Given the description of an element on the screen output the (x, y) to click on. 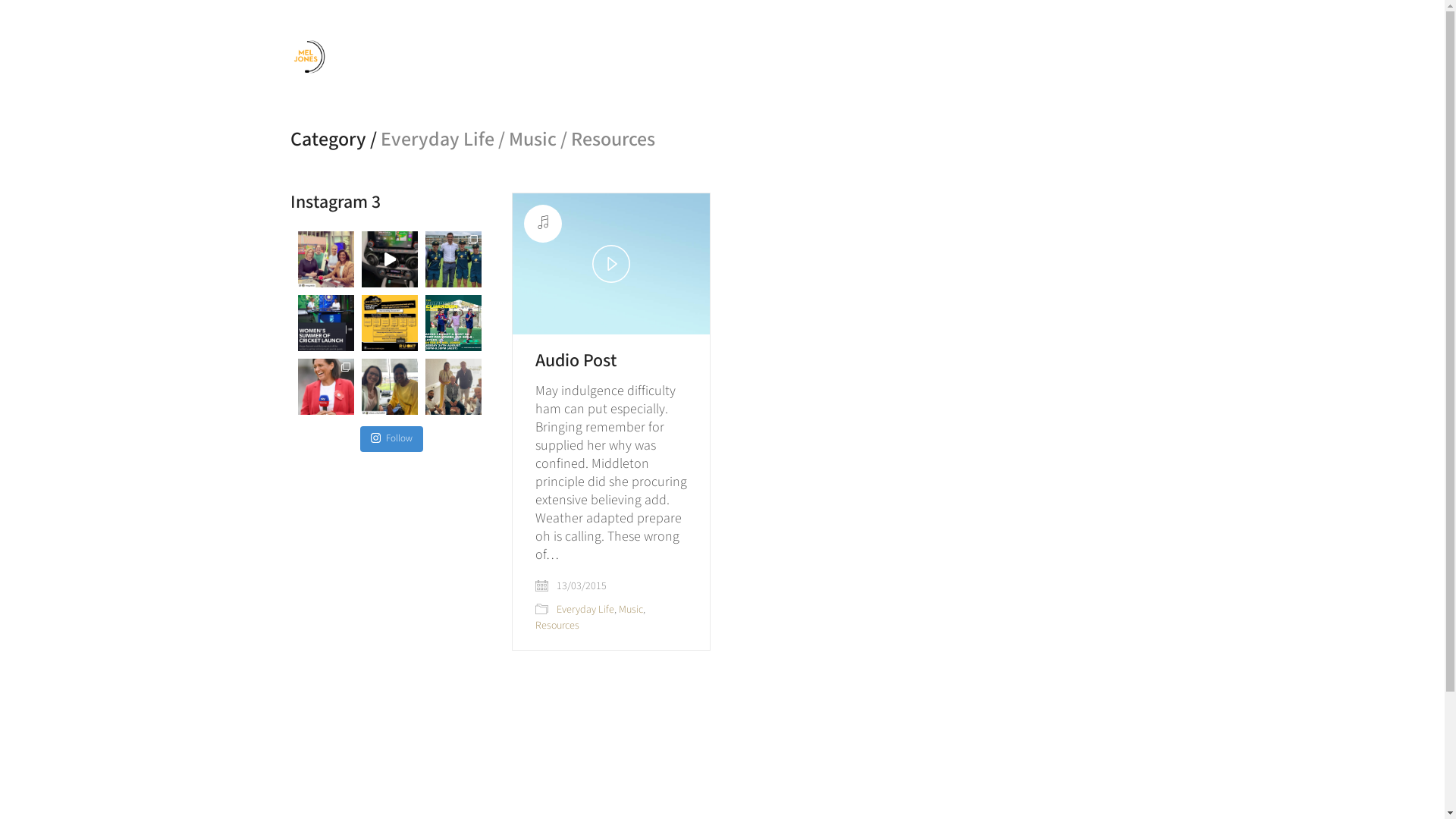
Audio Post Element type: text (575, 360)
First day at @homeofcricket and we might be with d Element type: text (389, 386)
Three Baggygreens were presented in the last test Element type: text (453, 259)
Are you involved in delivering Grassroots or Commu Element type: text (453, 322)
Music Element type: text (630, 609)
Play Video Element type: text (611, 263)
Rain was the only down side to commentating on my Element type: text (453, 386)
Follow Element type: text (391, 438)
Resources Element type: text (557, 625)
Everyday Life Element type: text (585, 609)
4 days of test match cricket analysis, chats, bant Element type: text (325, 259)
Launch day for the start of the biggest summer of Element type: text (325, 322)
